Given the description of an element on the screen output the (x, y) to click on. 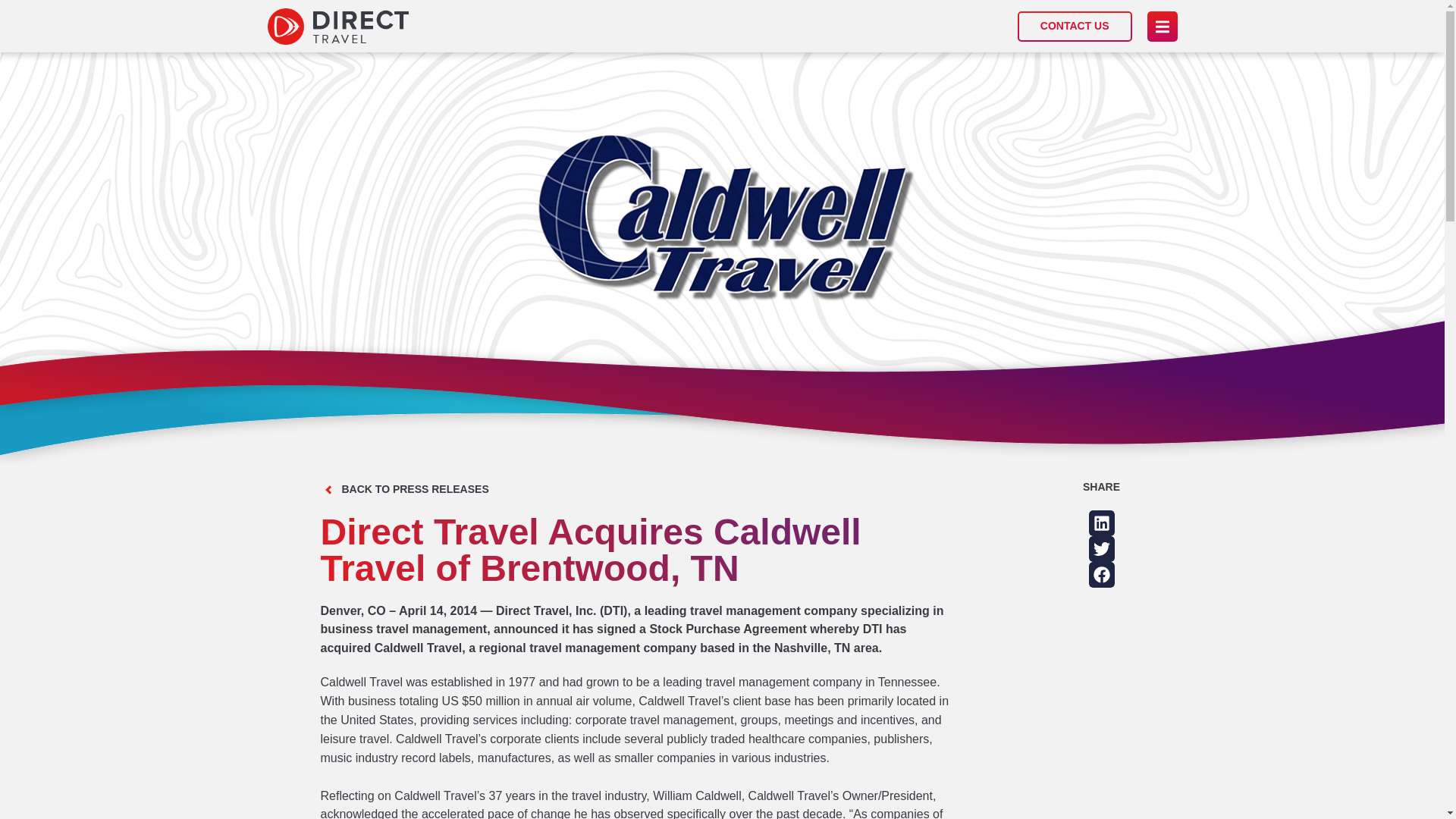
BACK TO PRESS RELEASES (413, 489)
CONTACT US (1074, 25)
